Given the description of an element on the screen output the (x, y) to click on. 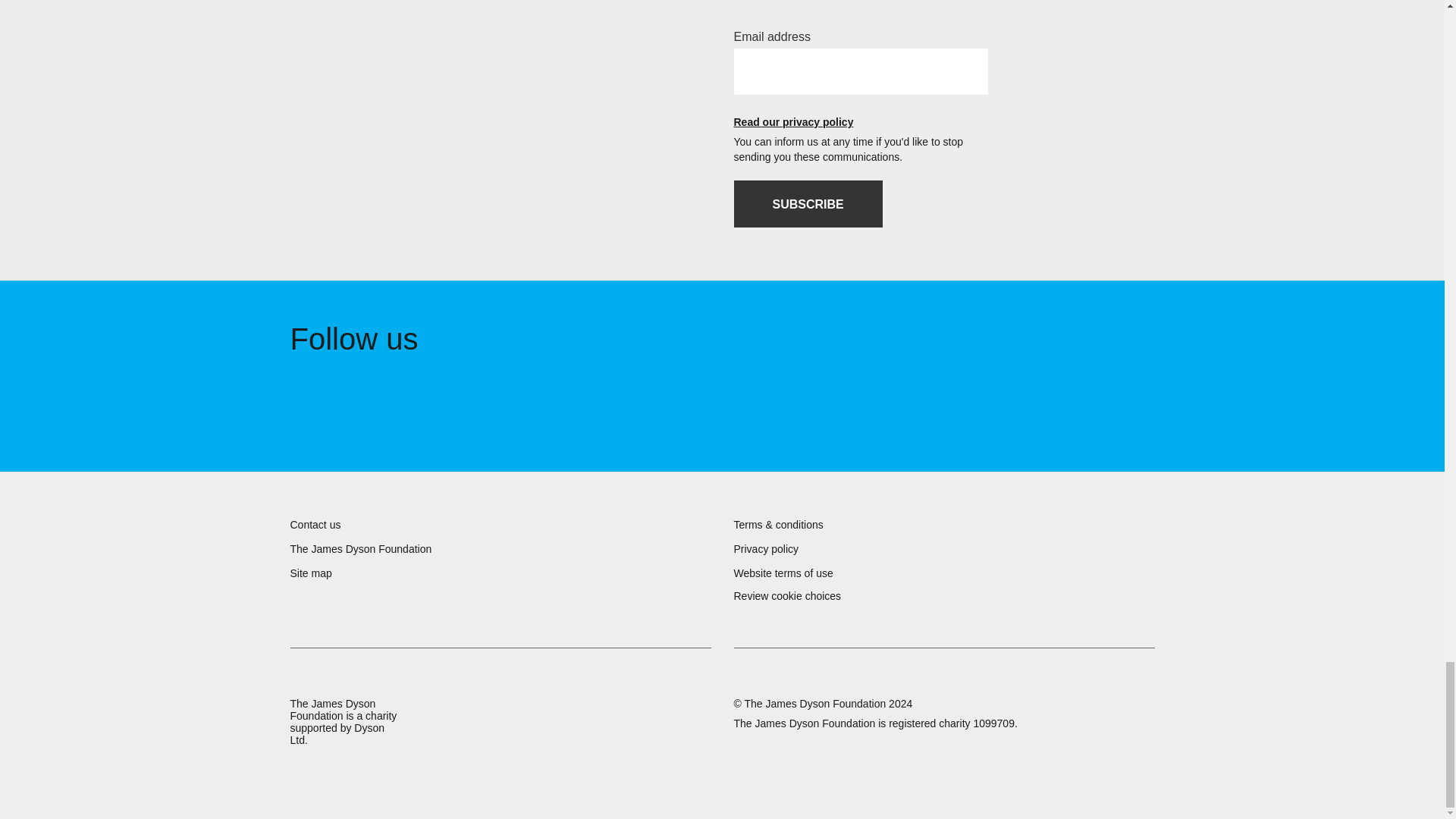
The James Dyson Foundation (359, 548)
Review cookie choices (787, 595)
Site map (310, 573)
Contact us (314, 524)
Website terms of use (782, 573)
Privacy policy (766, 548)
SUBSCRIBE (807, 203)
Read our privacy policy (860, 122)
